Given the description of an element on the screen output the (x, y) to click on. 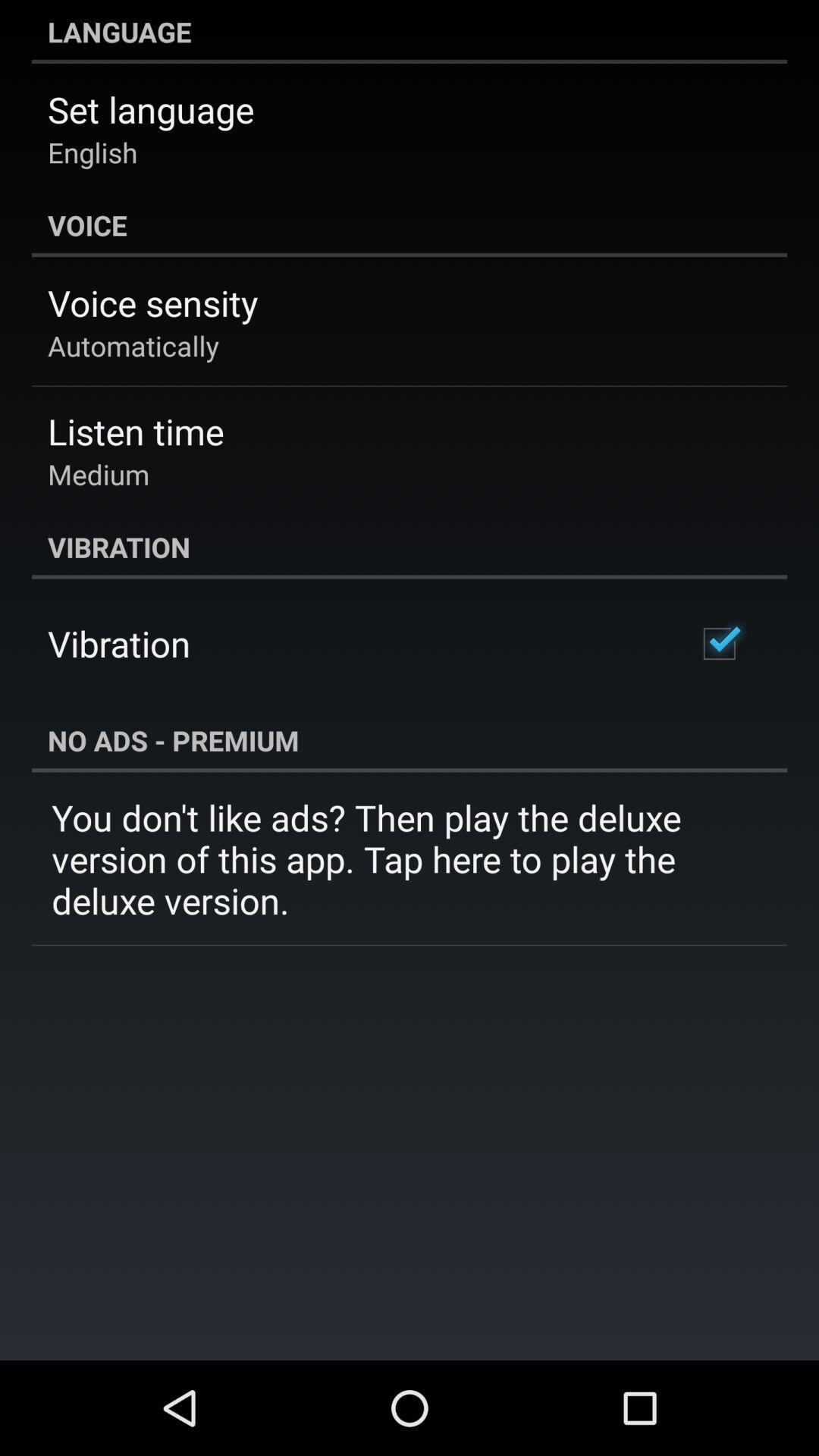
turn off the app above the english icon (150, 109)
